Given the description of an element on the screen output the (x, y) to click on. 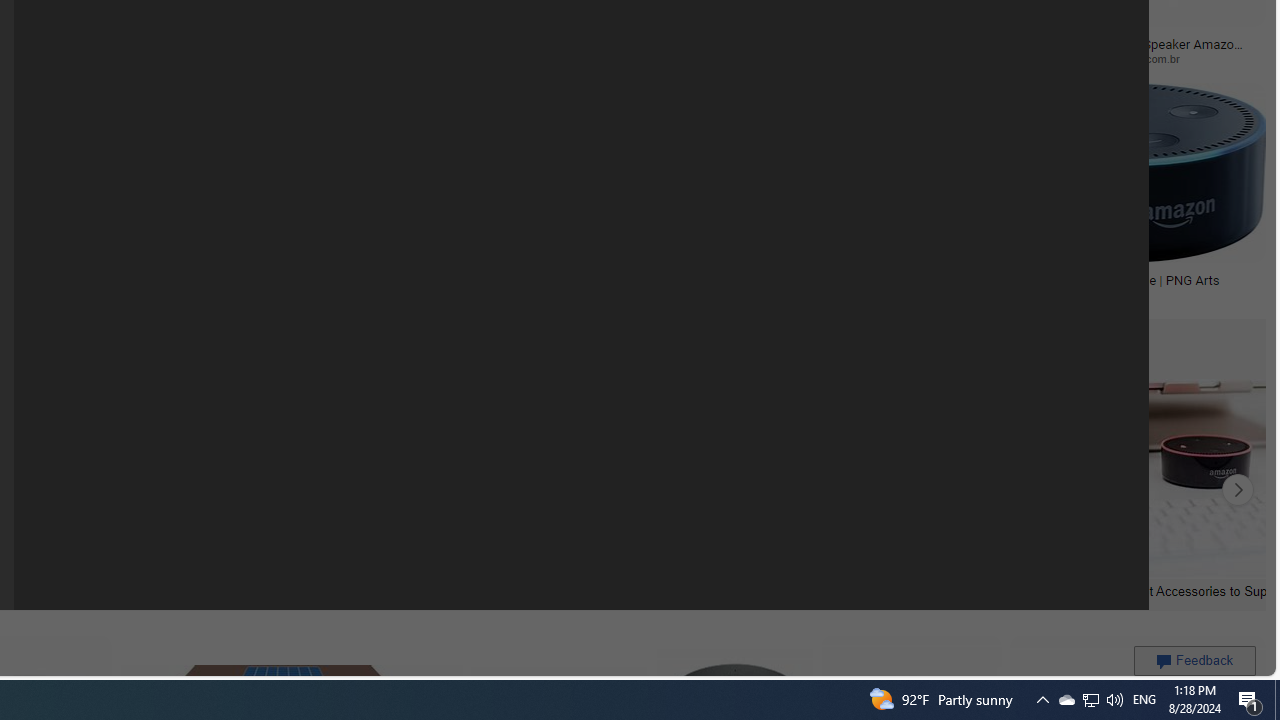
pngarts.com (1026, 294)
pnghq.com (836, 295)
Echo Dot Accessories Echo Dot Accessories (175, 489)
Amazonecho Dot With Alexa (Gen 4) (812, 279)
avenidatecnologica.com (960, 58)
Amazonecho Dot With Alexa (Gen 4) (836, 279)
skroutz.gr (253, 294)
Alexa Dot Transparent Image | PNG Artspngarts.comSave (1122, 196)
